Given the description of an element on the screen output the (x, y) to click on. 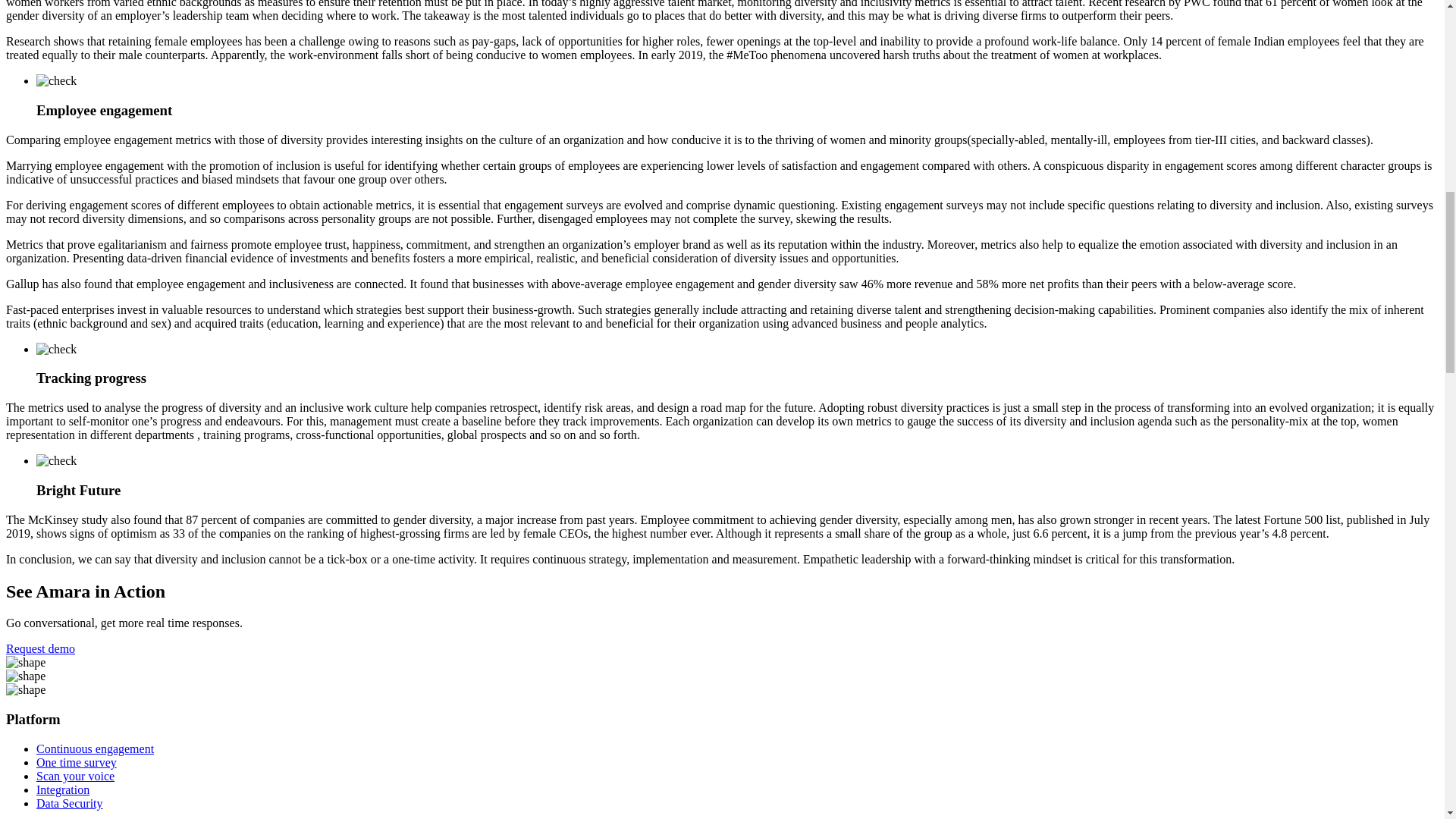
Continuous engagement (95, 748)
One time survey (76, 762)
Request demo (40, 648)
Integration (62, 789)
Scan your voice (75, 775)
